Given the description of an element on the screen output the (x, y) to click on. 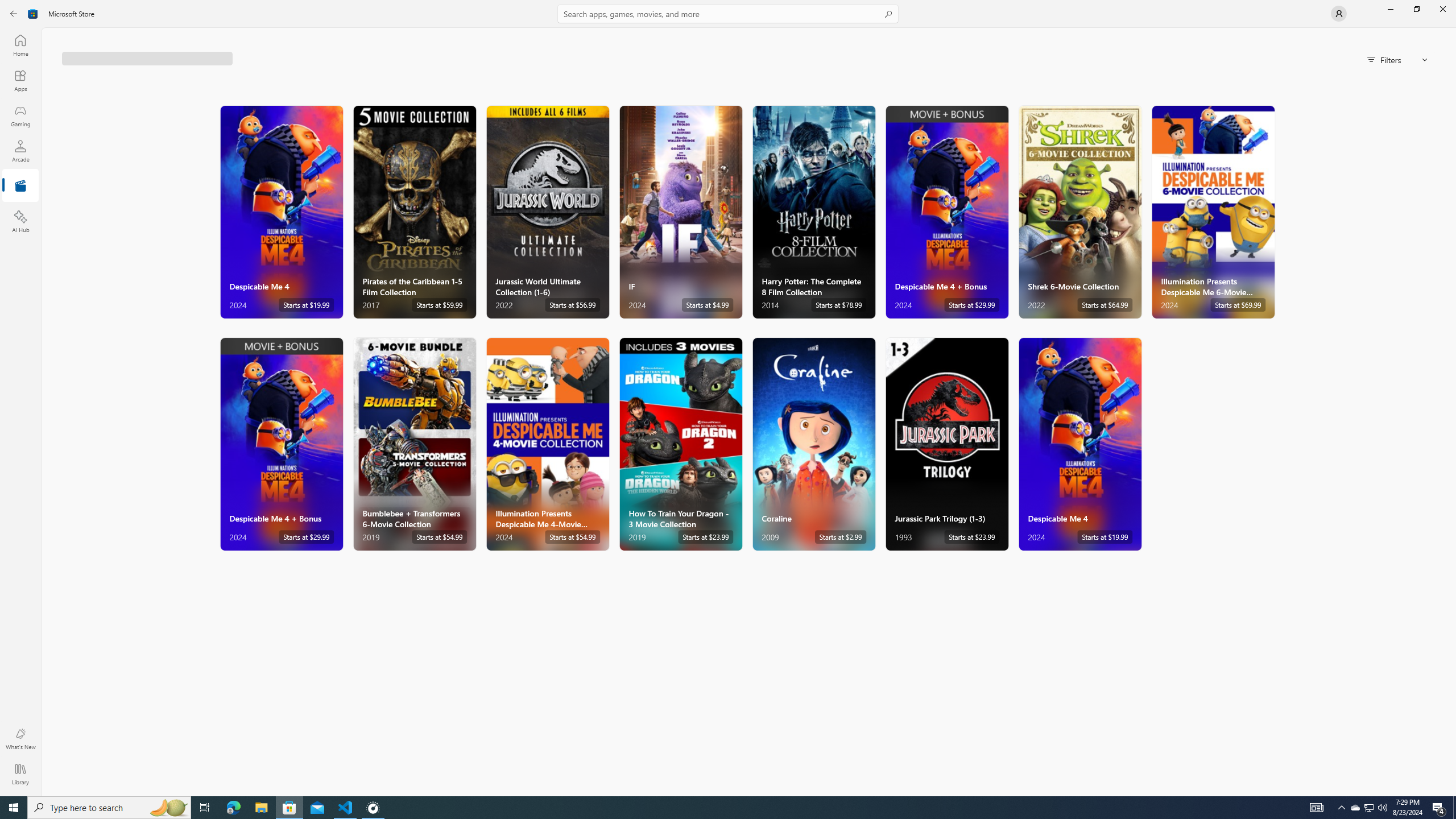
Minimize Microsoft Store (1390, 9)
Filters (1397, 59)
Vertical Large Increase (1452, 411)
Despicable Me 4 + Bonus. Starts at $29.99   (281, 444)
AI Hub (20, 221)
AutomationID: NavigationControl (728, 398)
Class: Image (32, 13)
Home (20, 45)
Back (13, 13)
Vertical (1452, 412)
